Given the description of an element on the screen output the (x, y) to click on. 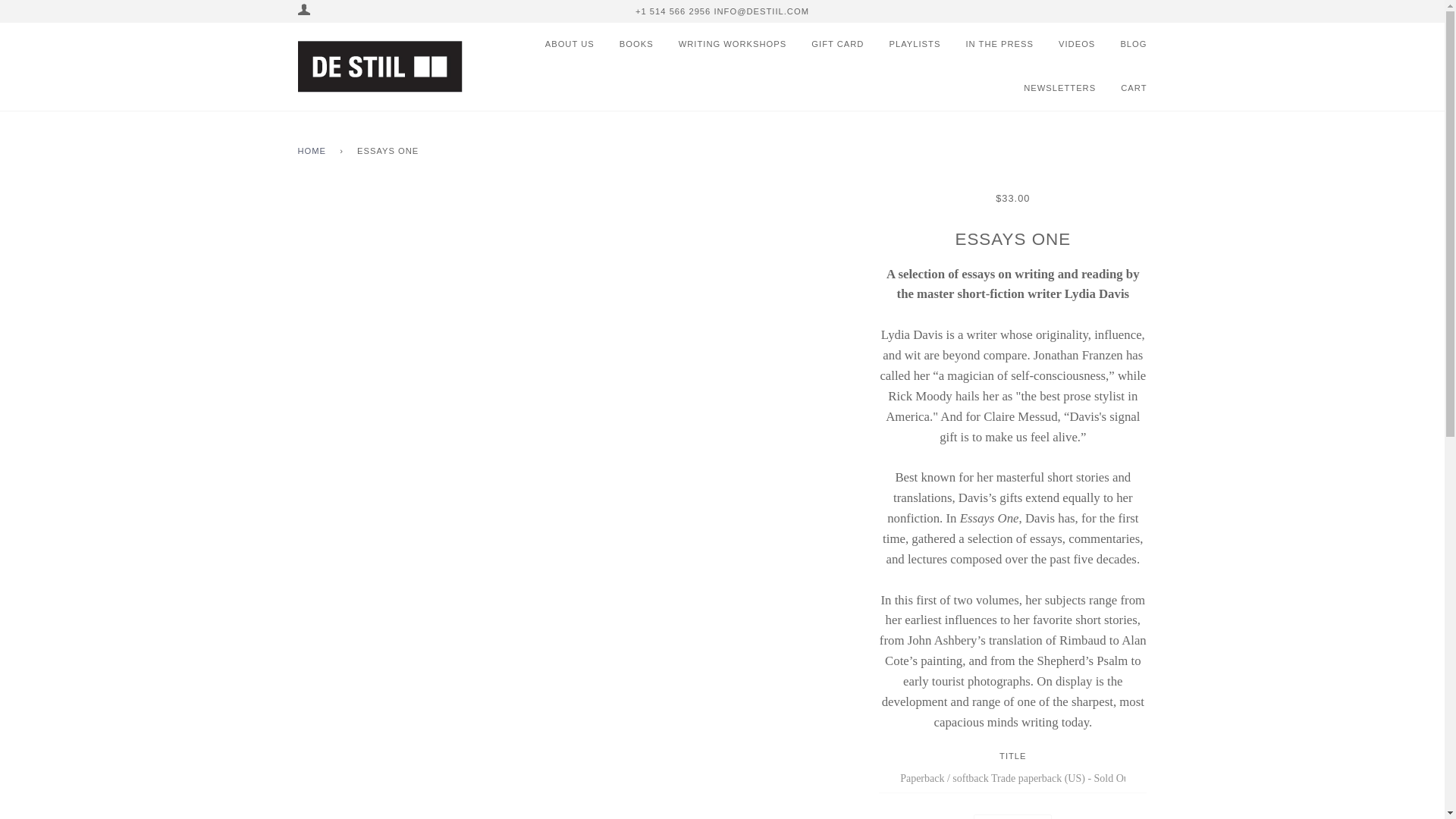
HOME (314, 151)
GIFT CARD (826, 44)
1 (1012, 816)
ABOUT US (565, 44)
IN THE PRESS (987, 44)
PLAYLISTS (903, 44)
Back to the frontpage (314, 151)
NEWSLETTERS (1048, 88)
WRITING WORKSHOPS (721, 44)
BLOG (1122, 44)
